Given the description of an element on the screen output the (x, y) to click on. 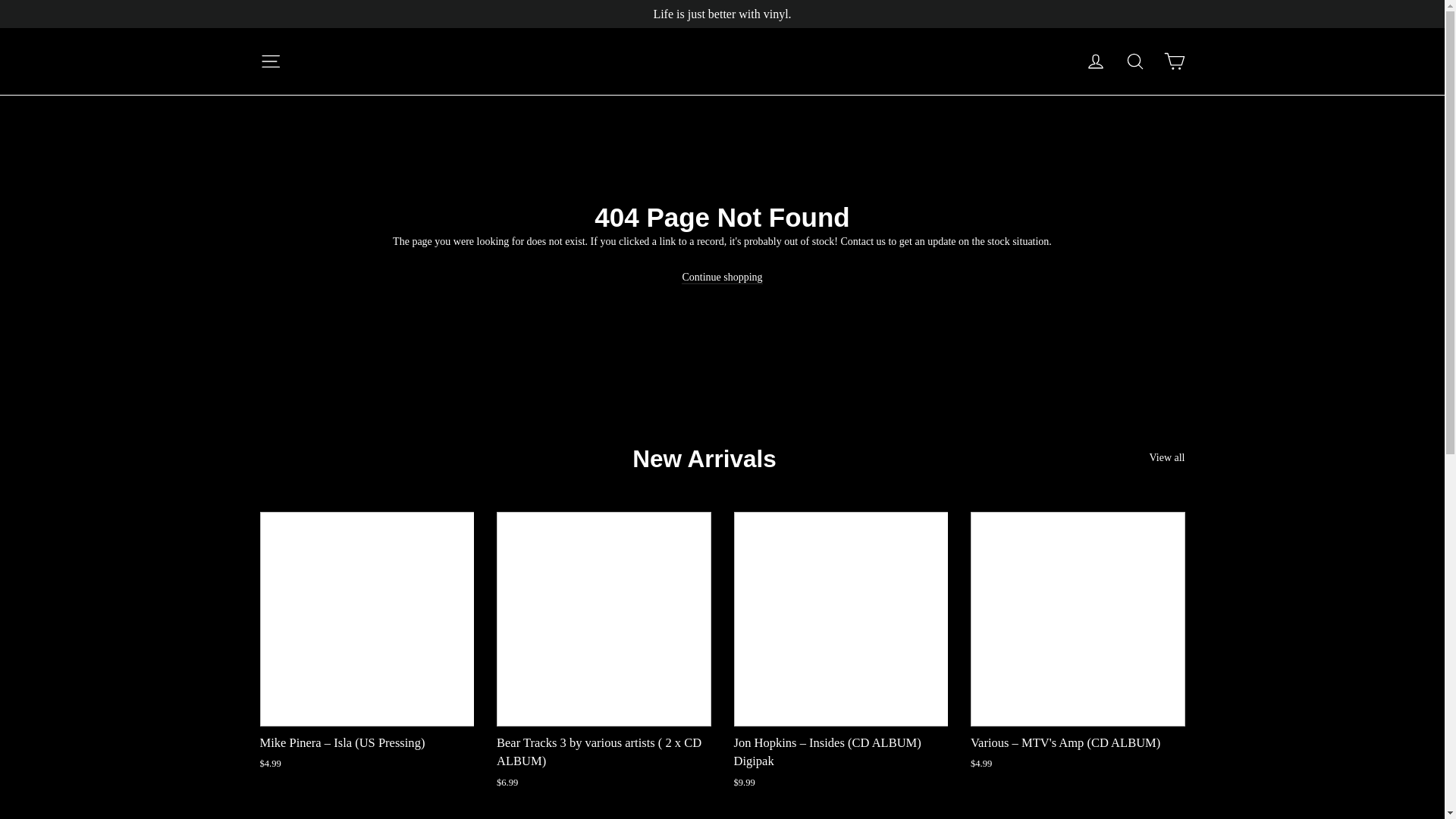
Search (1134, 61)
Continue shopping (721, 277)
Site navigation (269, 61)
Log in (1095, 61)
Cart (1173, 61)
View all (1167, 455)
